Given the description of an element on the screen output the (x, y) to click on. 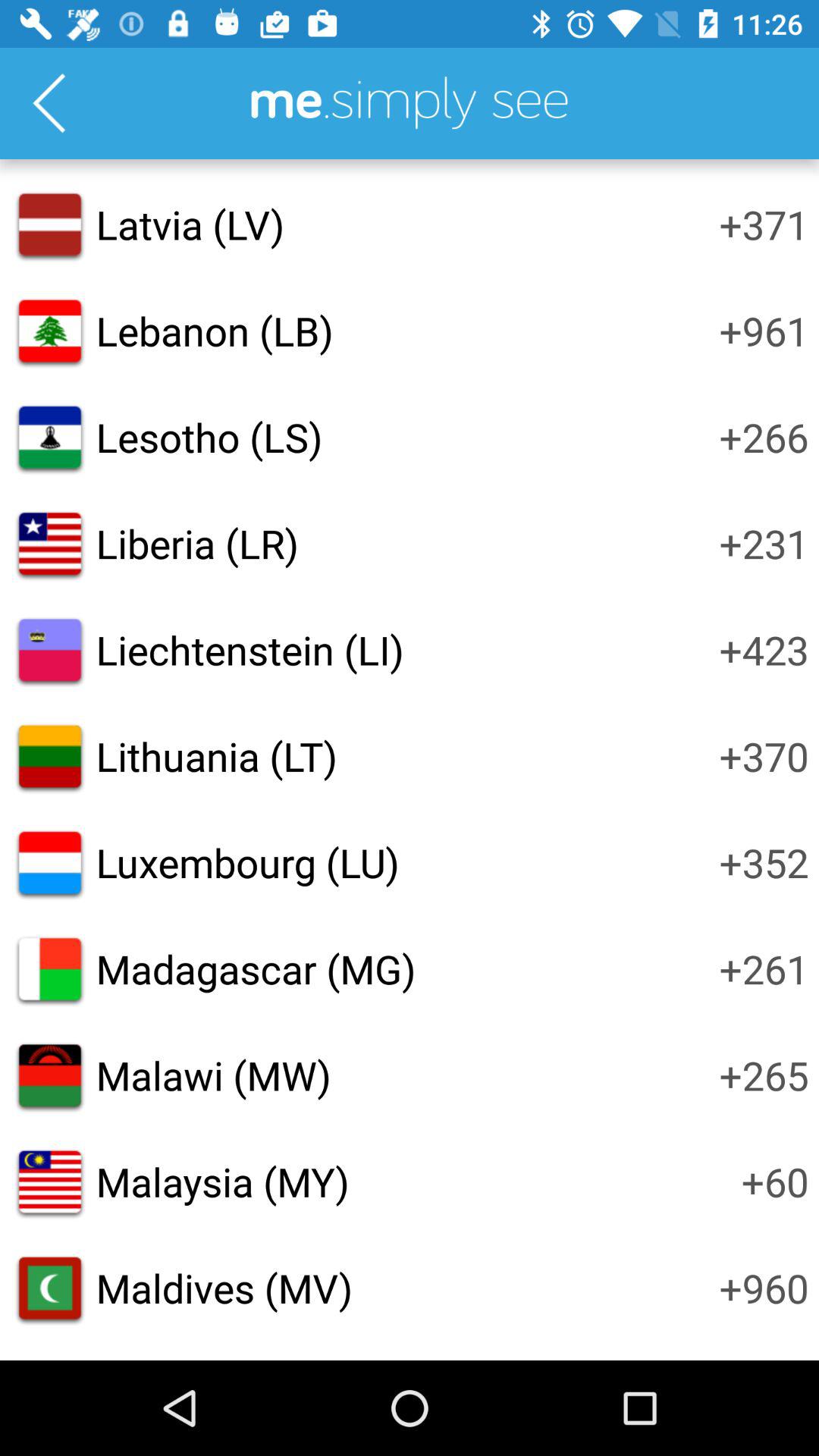
flip to lesotho (ls) item (209, 436)
